Given the description of an element on the screen output the (x, y) to click on. 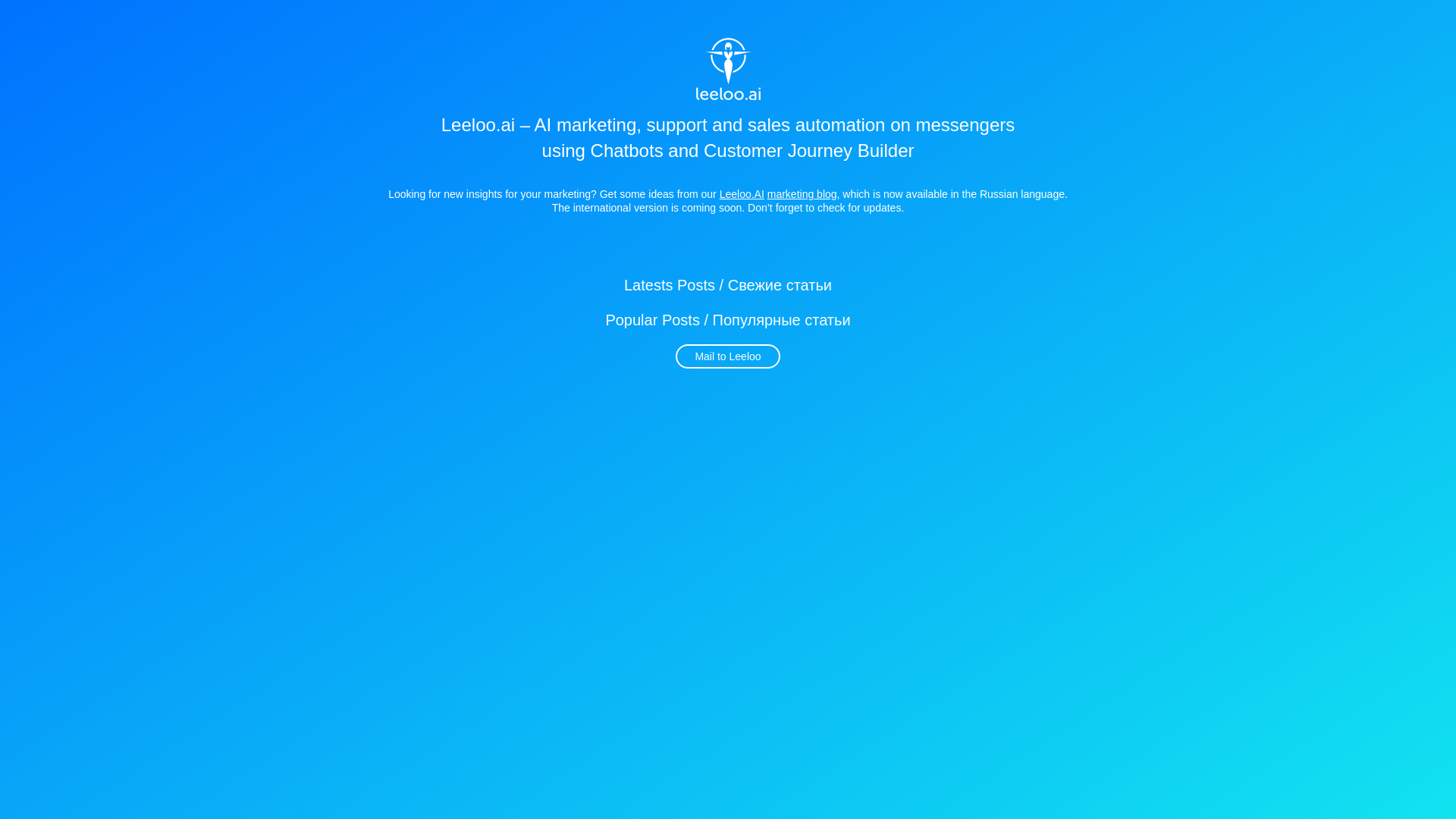
Mail to Leeloo Element type: text (727, 356)
marketing blog Element type: text (802, 194)
Leeloo.AI Element type: text (741, 194)
